Given the description of an element on the screen output the (x, y) to click on. 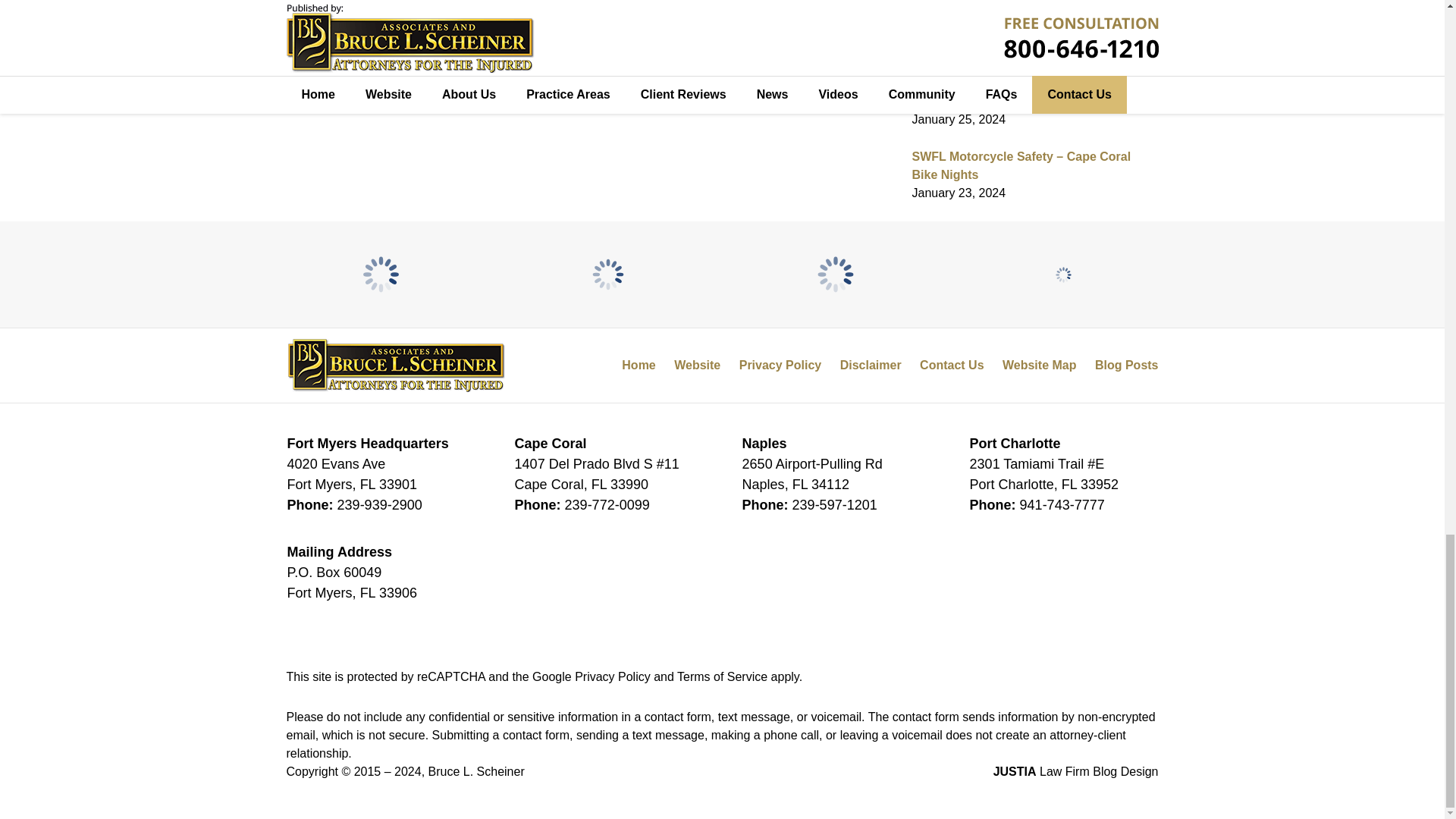
Malpractice Risk Shadows Cosmetic Dentistry Boom (443, 51)
Home (388, 51)
